Given the description of an element on the screen output the (x, y) to click on. 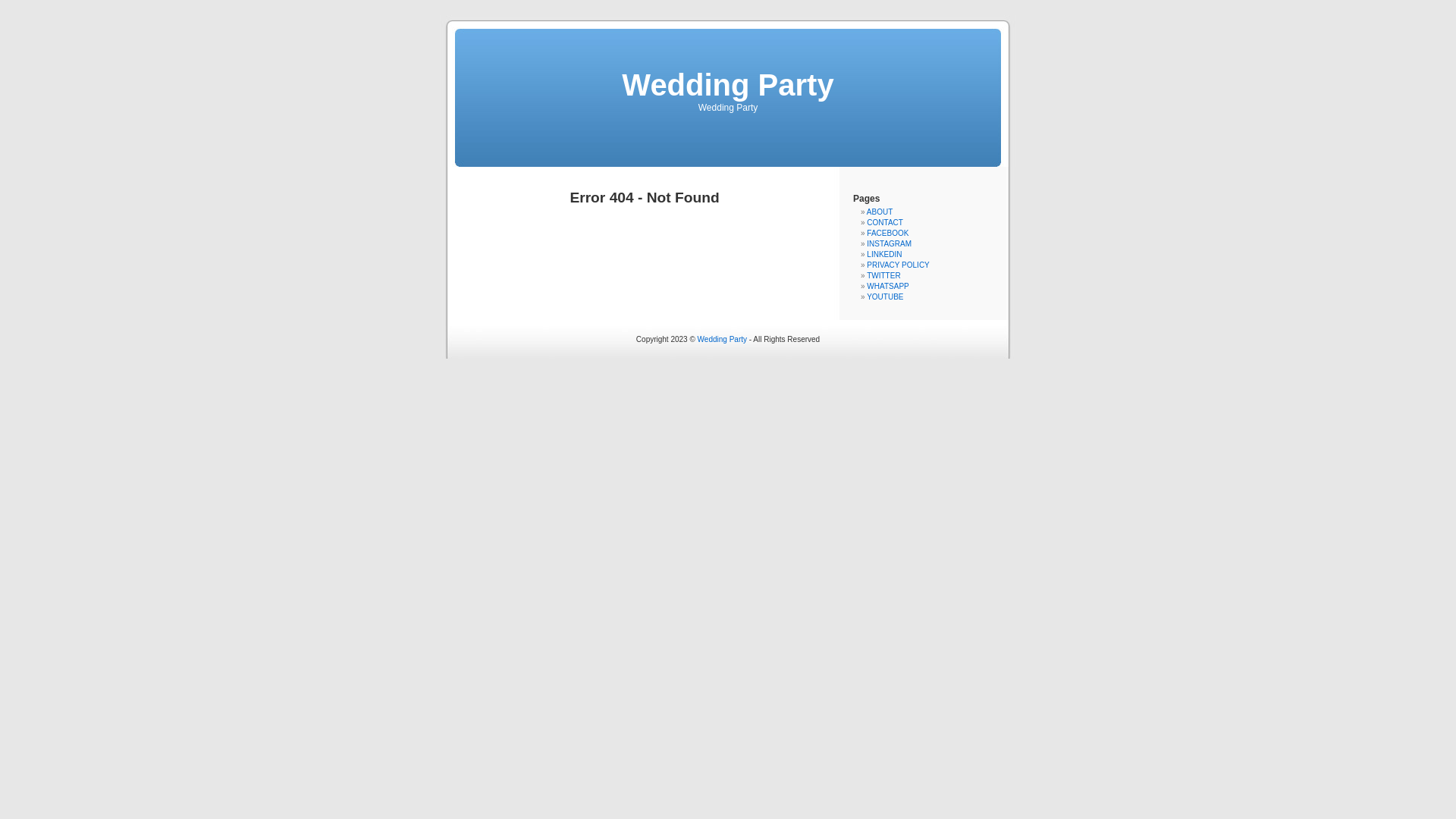
TWITTER Element type: text (883, 275)
FACEBOOK Element type: text (887, 233)
Wedding Party Element type: text (721, 339)
ABOUT Element type: text (879, 211)
INSTAGRAM Element type: text (888, 243)
LINKEDIN Element type: text (883, 254)
YOUTUBE Element type: text (884, 296)
CONTACT Element type: text (884, 222)
Wedding Party Element type: text (727, 84)
PRIVACY POLICY Element type: text (897, 264)
WHATSAPP Element type: text (887, 286)
